Given the description of an element on the screen output the (x, y) to click on. 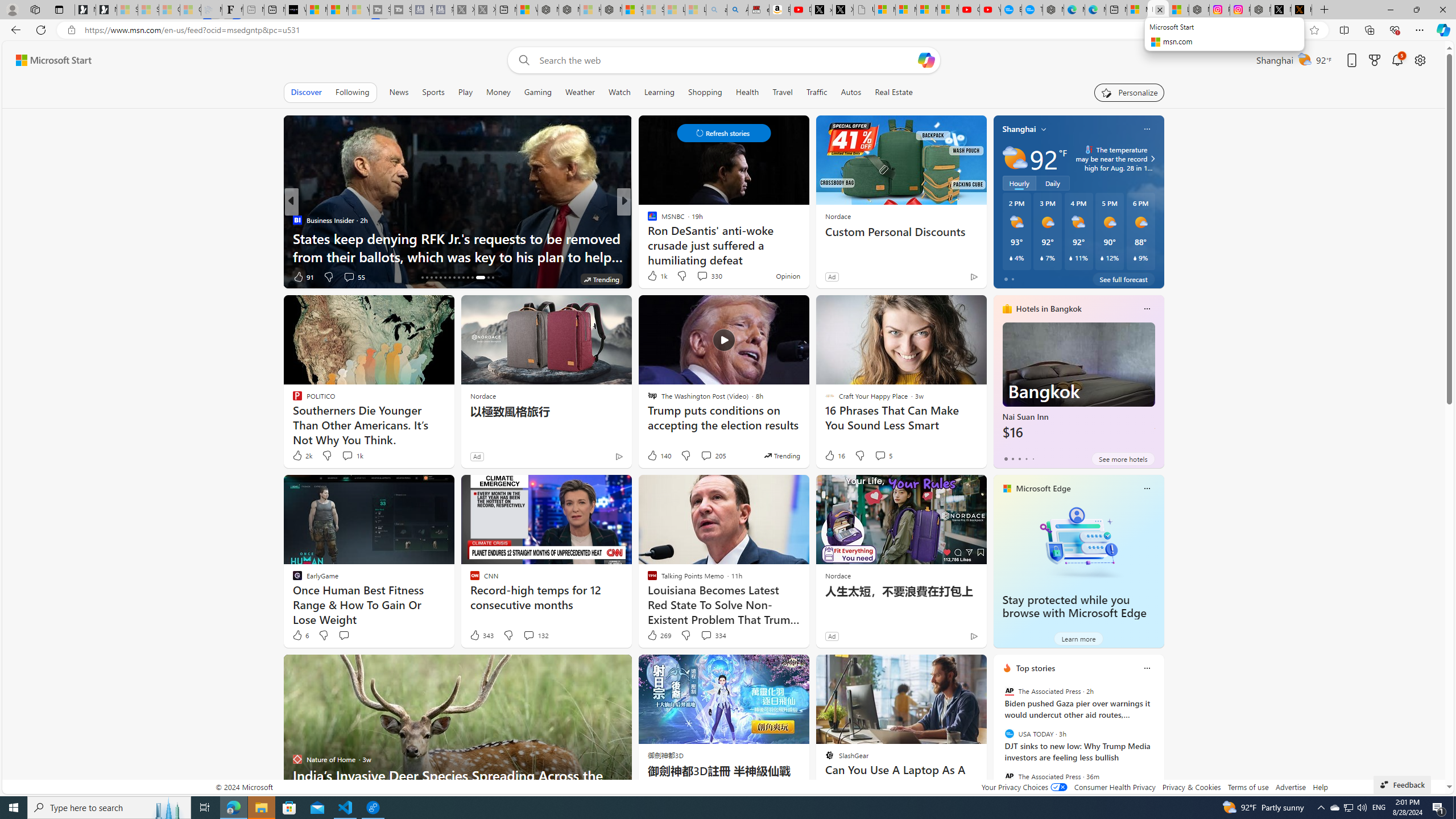
View comments 6 Comment (6, 276)
View comments 55 Comment (349, 276)
Comments turned off for this story (694, 276)
tab-0 (1005, 458)
Personalize your feed" (1129, 92)
View comments 96 Comment (707, 276)
AutomationID: tab-24 (458, 277)
Shopping (705, 92)
AutomationID: tab-25 (462, 277)
Terms of use (1247, 786)
